Given the description of an element on the screen output the (x, y) to click on. 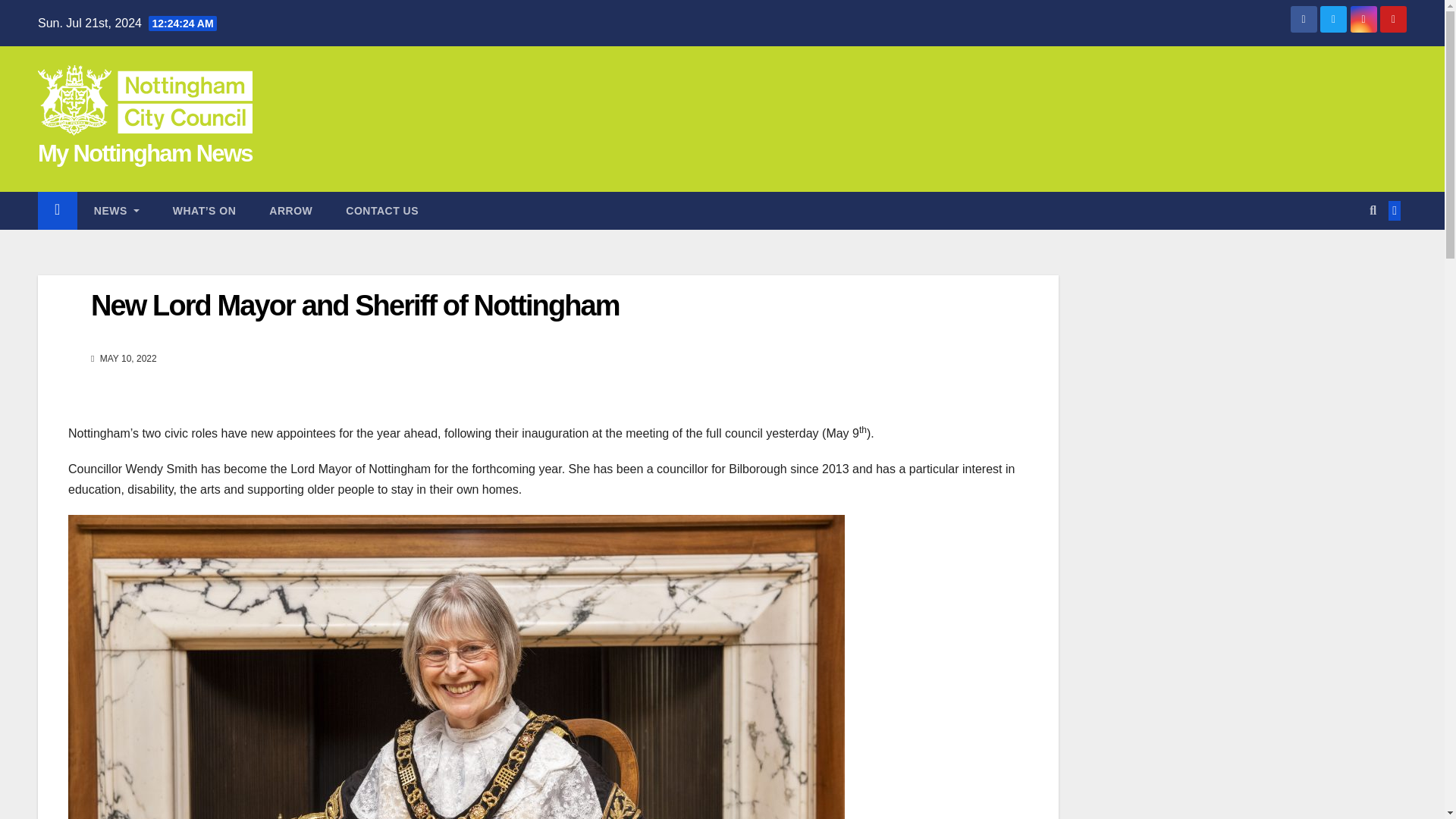
ARROW (290, 210)
News (116, 210)
My Nottingham News (144, 153)
New Lord Mayor and Sheriff of Nottingham (355, 305)
What's On (204, 210)
NEWS (116, 210)
CONTACT US (382, 210)
